Given the description of an element on the screen output the (x, y) to click on. 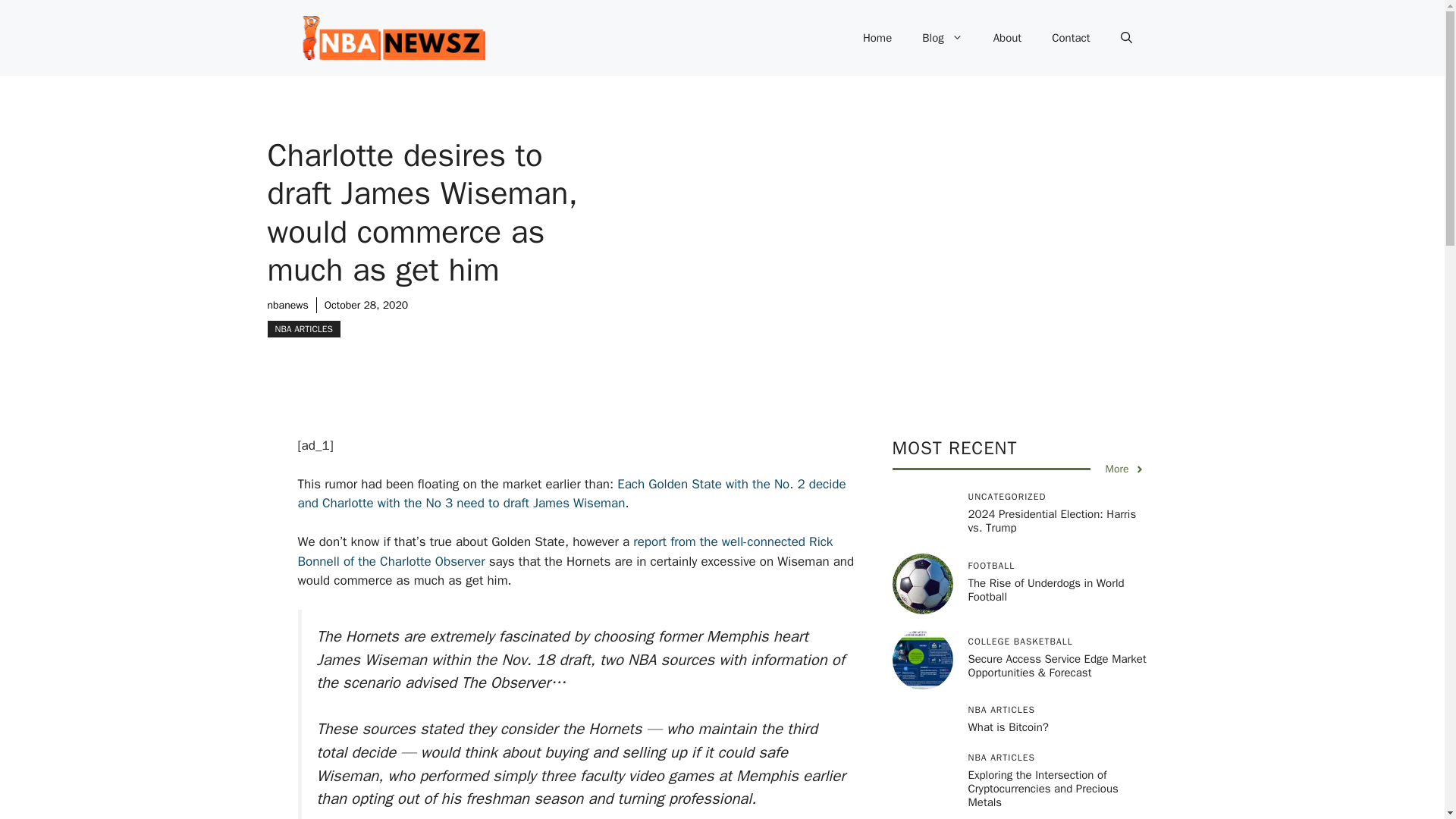
Blog (941, 37)
Home (877, 37)
James Wiseman (578, 503)
NBA ARTICLES (303, 329)
About (1007, 37)
Contact (1070, 37)
nbanews (286, 305)
